Given the description of an element on the screen output the (x, y) to click on. 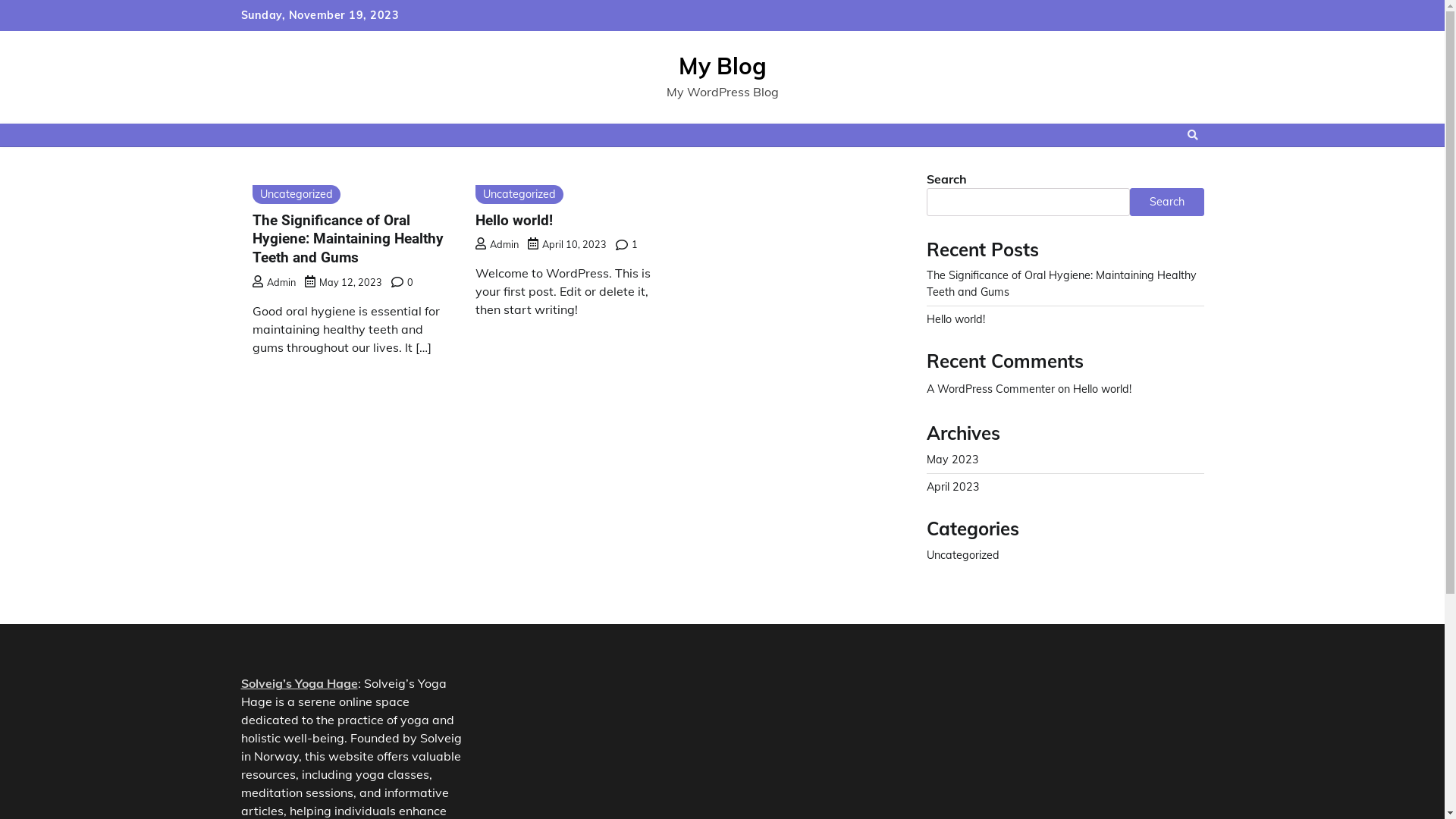
Hello world! Element type: text (1101, 388)
A WordPress Commenter Element type: text (990, 388)
Uncategorized Element type: text (962, 554)
Hello world! Element type: text (955, 319)
Search Element type: text (1166, 201)
Uncategorized Element type: text (295, 194)
Hello world! Element type: text (513, 220)
April 2023 Element type: text (952, 486)
Uncategorized Element type: text (519, 194)
Search Element type: text (1164, 170)
My Blog Element type: text (721, 65)
Search Element type: hover (1192, 134)
May 2023 Element type: text (952, 459)
Admin Element type: text (272, 282)
Admin Element type: text (496, 244)
